Given the description of an element on the screen output the (x, y) to click on. 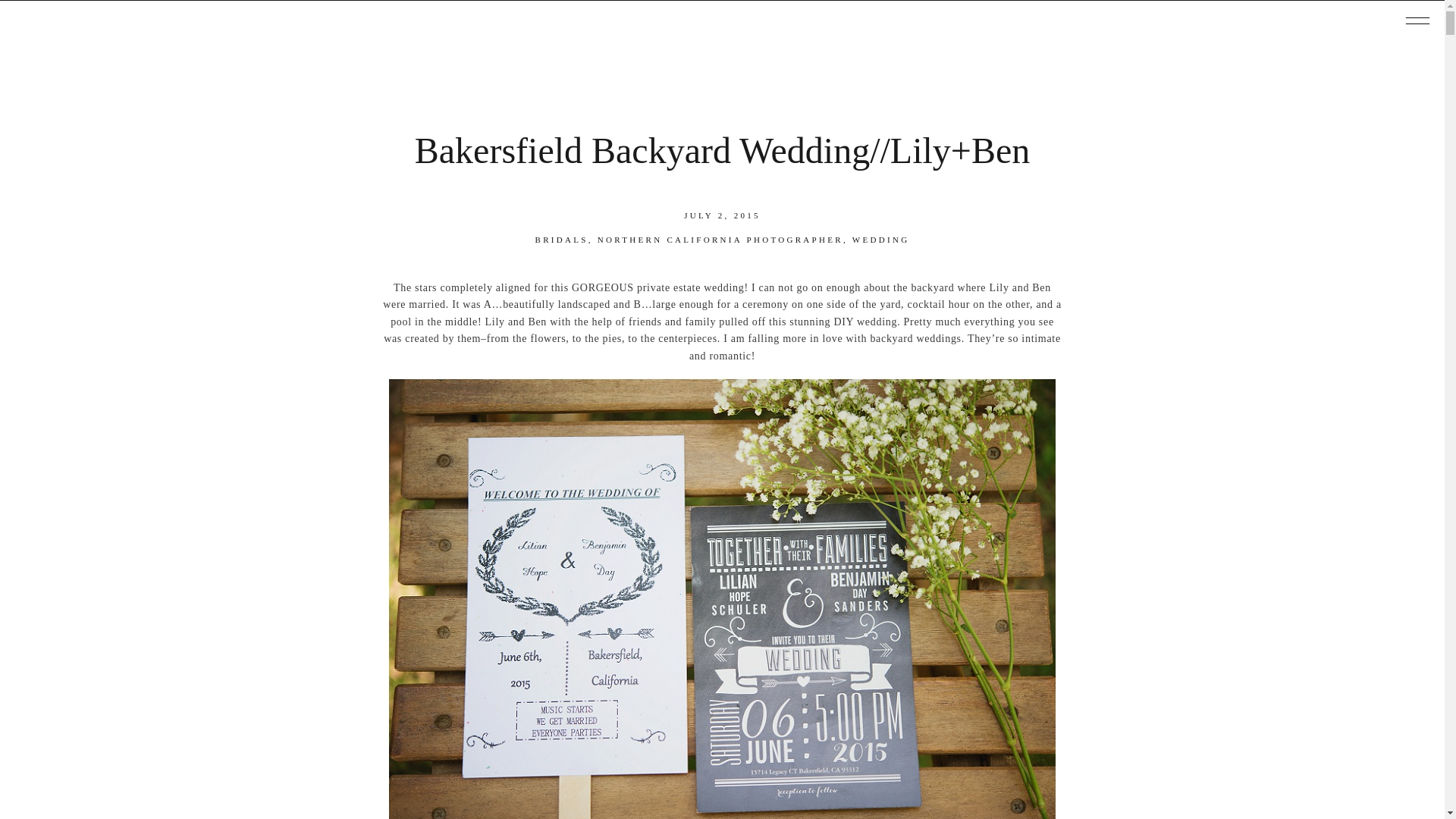
NORTHERN CALIFORNIA PHOTOGRAPHER (719, 239)
WEDDING (880, 239)
BRIDALS (561, 239)
